Given the description of an element on the screen output the (x, y) to click on. 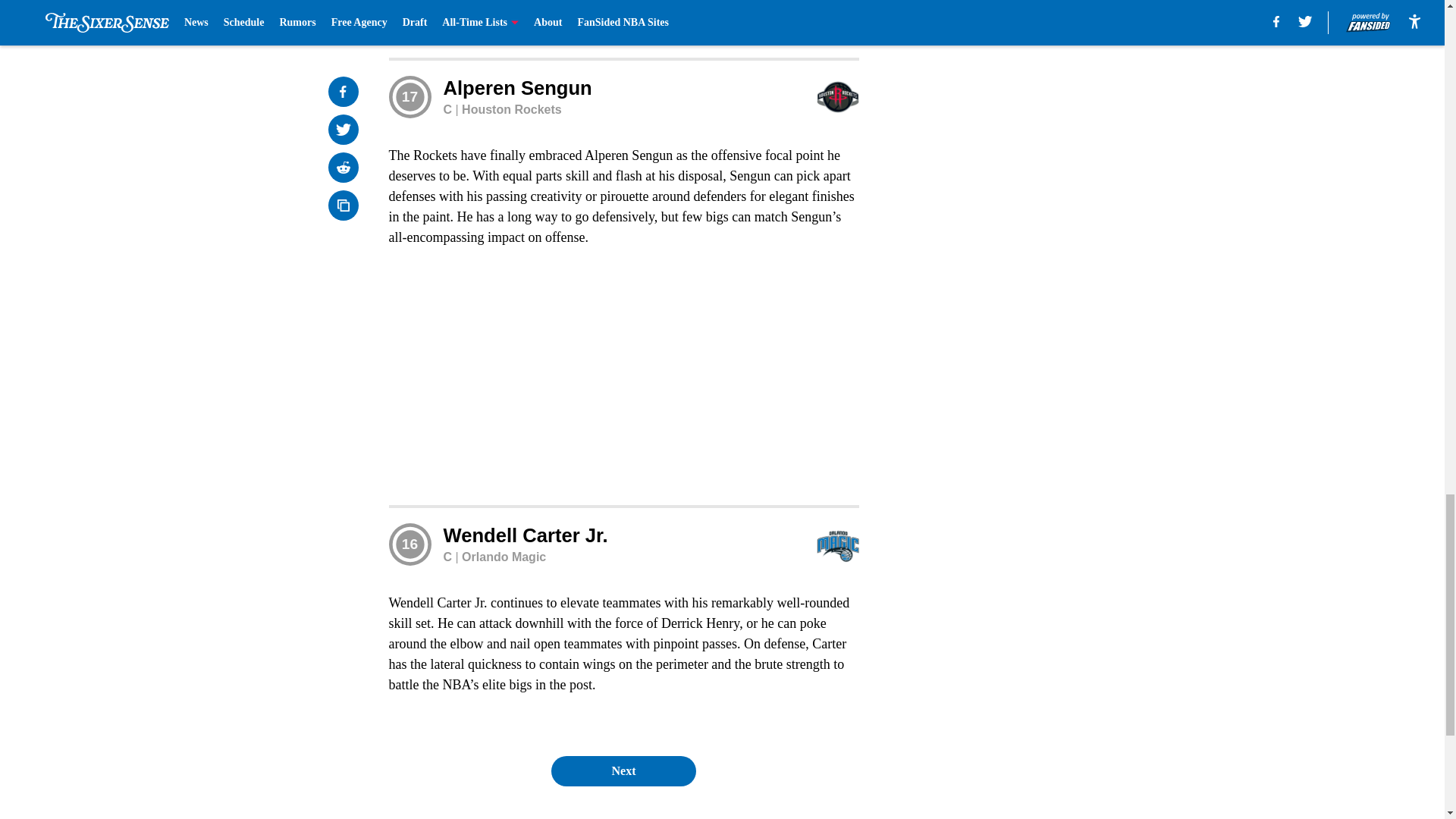
Next (622, 770)
